Given the description of an element on the screen output the (x, y) to click on. 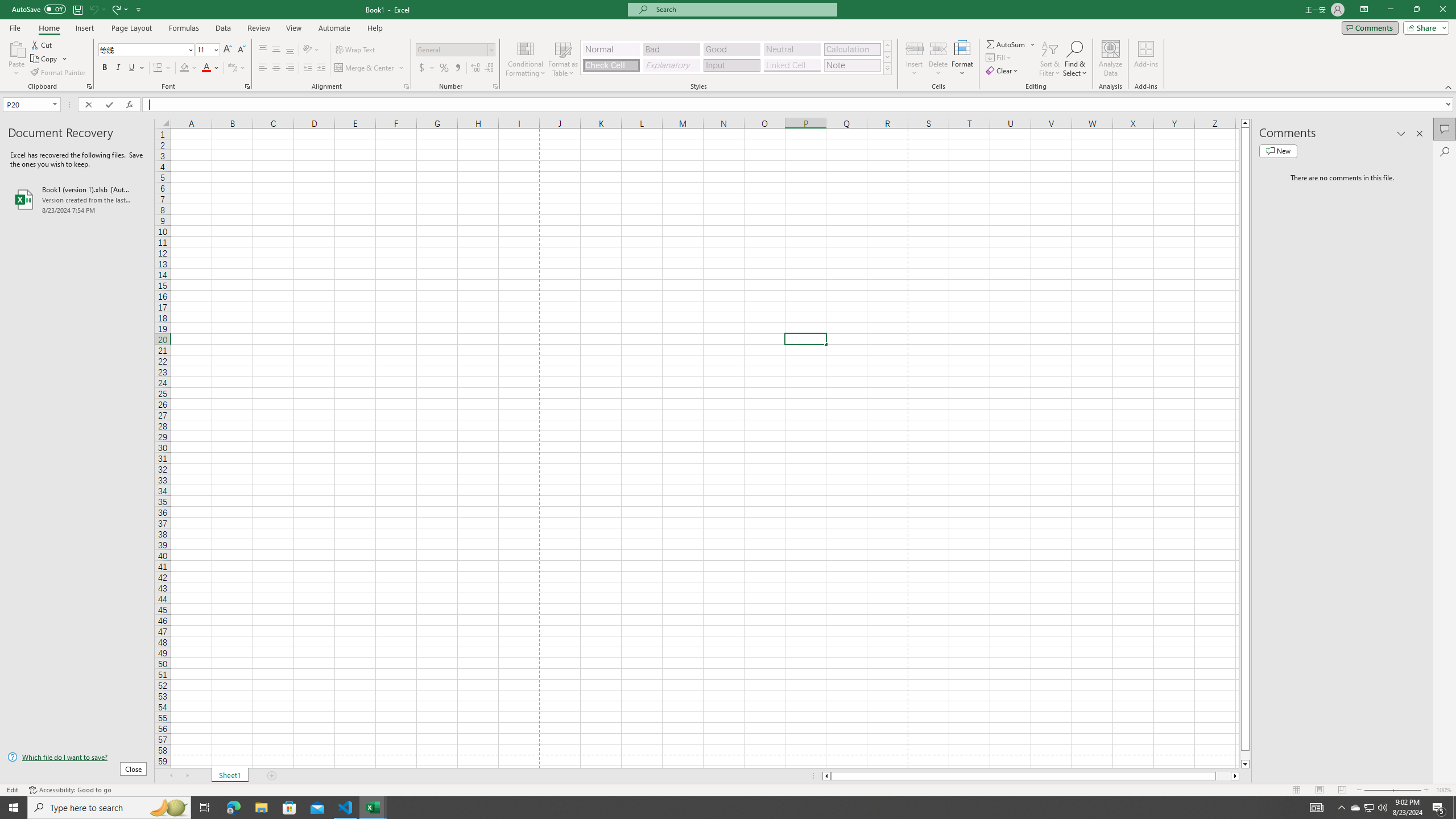
Bad (671, 49)
Show Phonetic Field (231, 67)
Font Color RGB(255, 0, 0) (206, 67)
Format Painter (58, 72)
Show Phonetic Field (236, 67)
Task Pane Options (1400, 133)
Font Color (210, 67)
Increase Font Size (227, 49)
Borders (162, 67)
AutoSum (1011, 44)
